Given the description of an element on the screen output the (x, y) to click on. 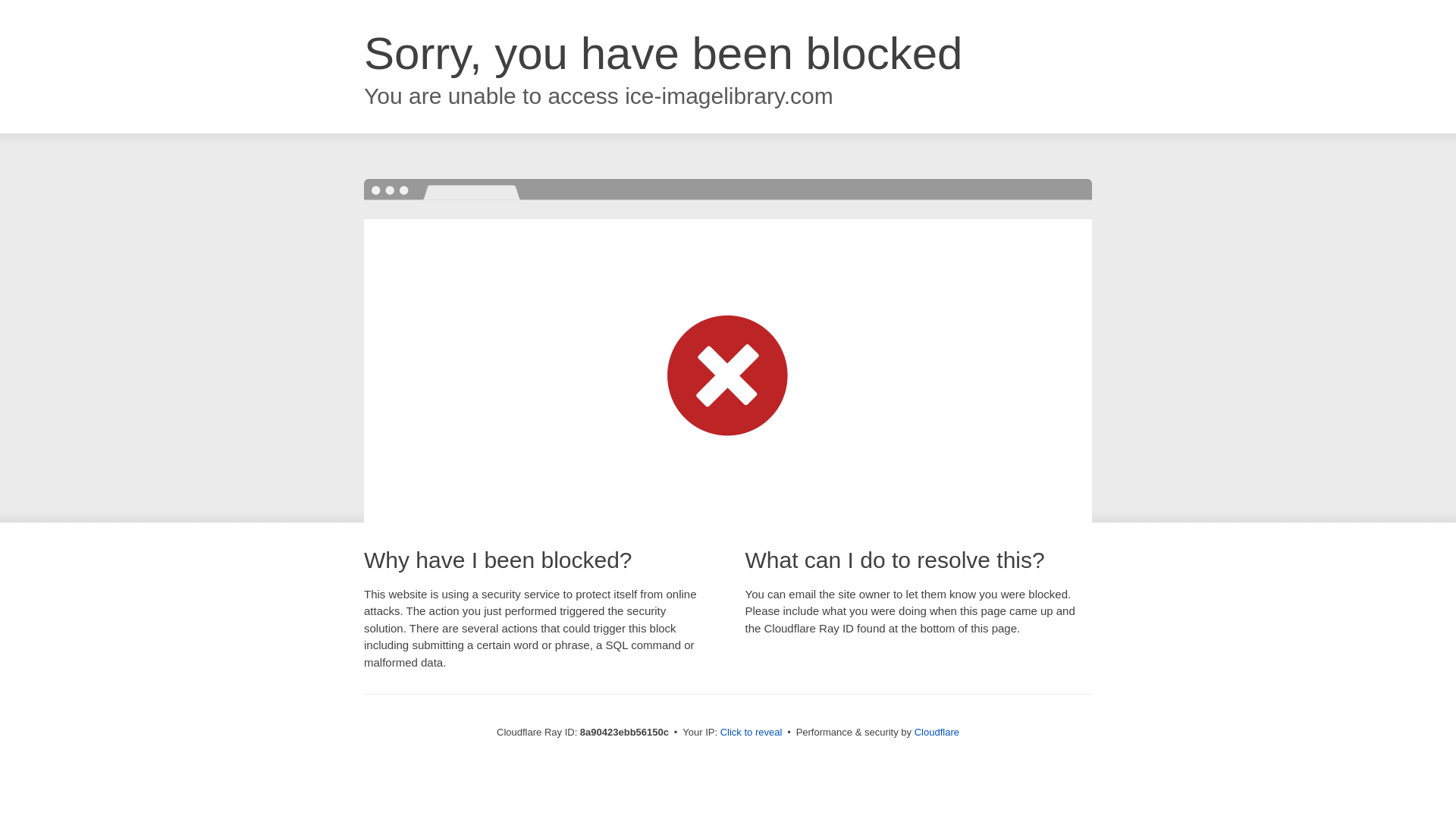
Cloudflare (936, 731)
Click to reveal (751, 732)
